Given the description of an element on the screen output the (x, y) to click on. 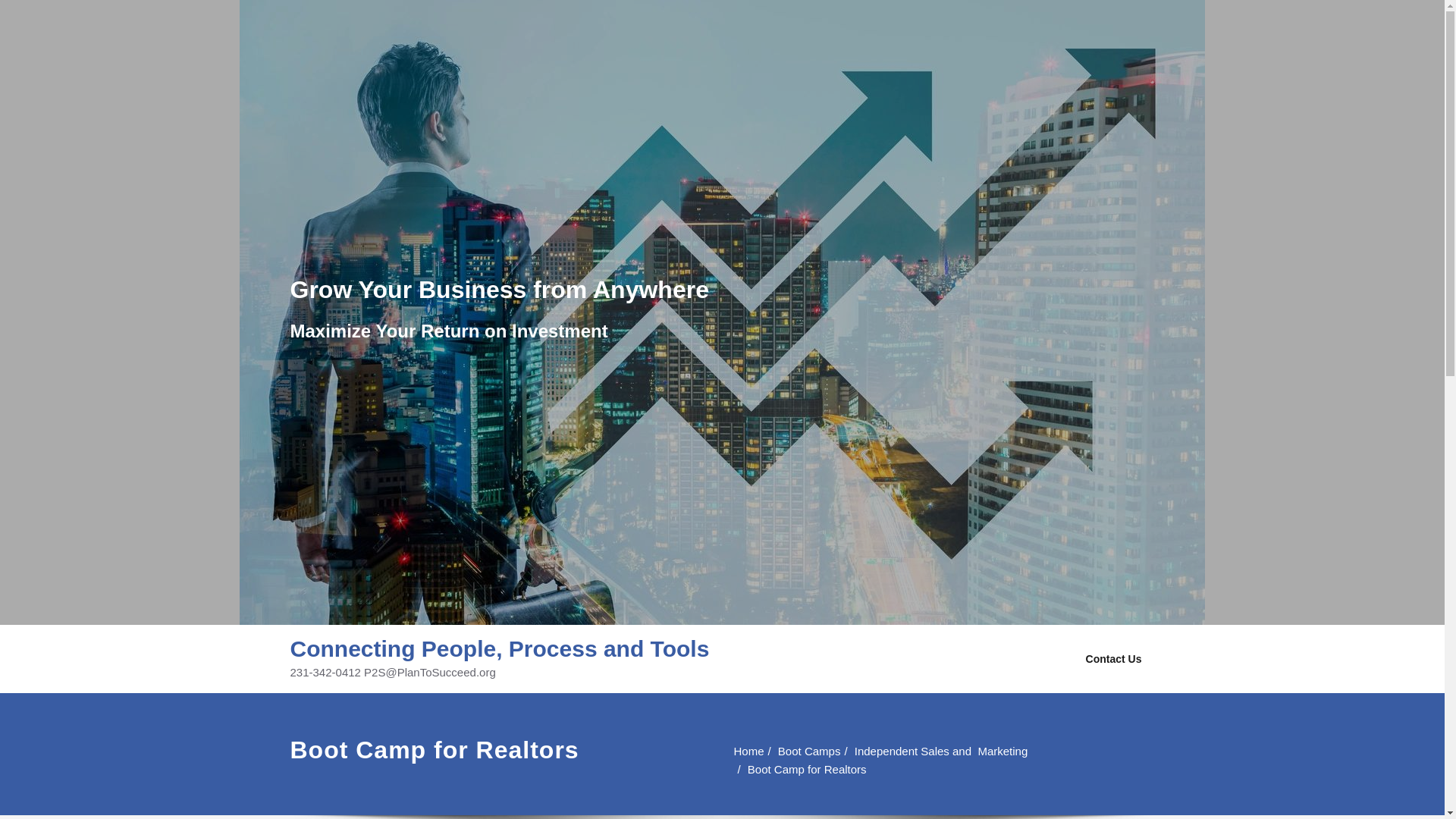
Contact Us (1113, 658)
Boot Camp for Realtors (1126, 768)
Independent Sales and  Marketing (1372, 750)
Connecting People, Process and Tools (499, 648)
Boot Camps (1445, 750)
